Given the description of an element on the screen output the (x, y) to click on. 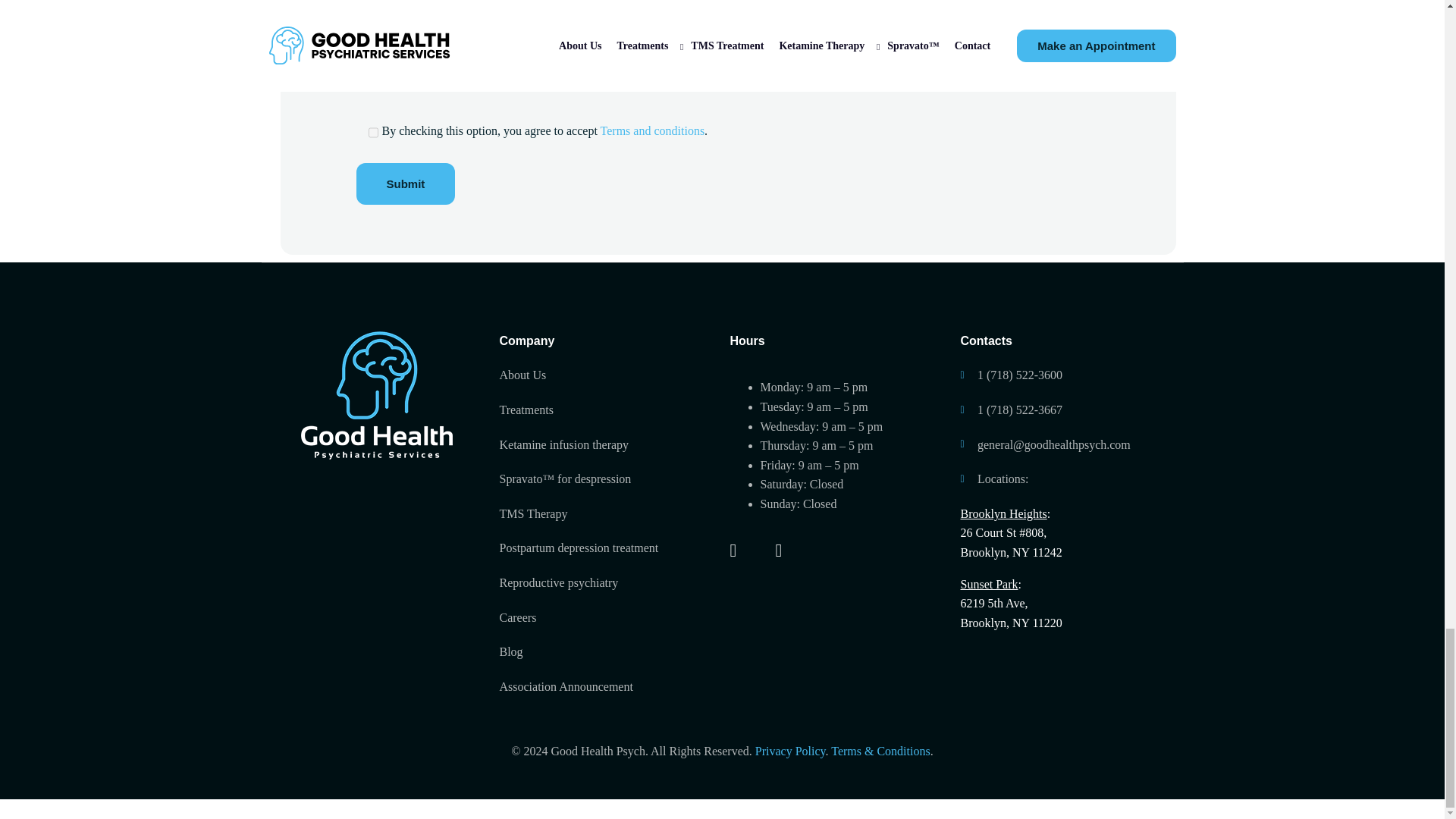
Reproductive psychiatry (606, 582)
Treatments (606, 410)
Ketamine infusion therapy (606, 444)
Submit (405, 183)
Careers (606, 618)
Terms and conditions (651, 130)
Submit (405, 183)
TMS Therapy (606, 514)
About Us (606, 374)
Association Announcement (606, 686)
